Given the description of an element on the screen output the (x, y) to click on. 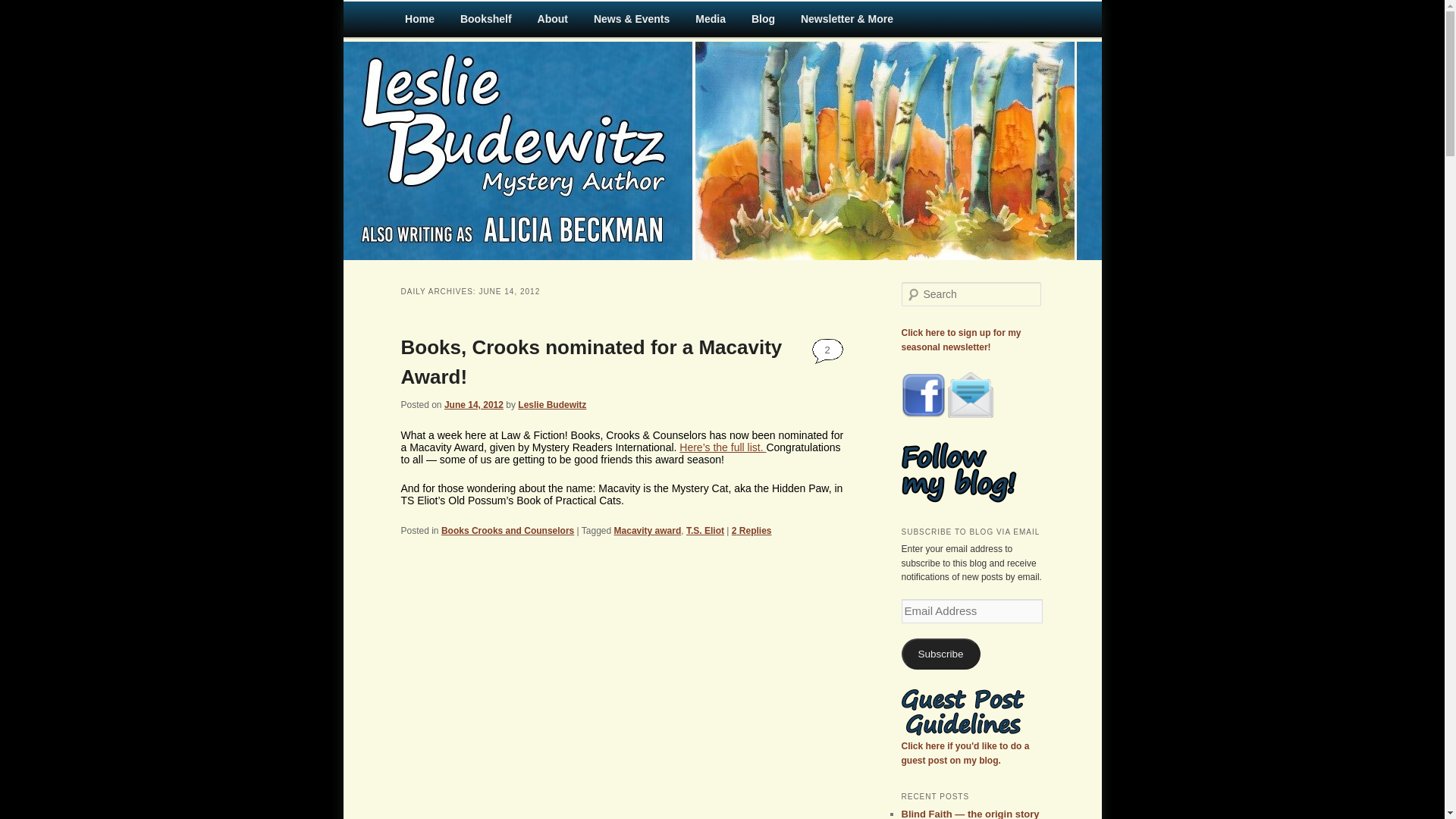
Click here to sign up for my seasonal newsletter! (960, 339)
Blog (762, 18)
Home (418, 18)
2 Replies (751, 530)
Leslie Budewitz (485, 56)
View all posts by Leslie Budewitz (552, 404)
June 14, 2012 (473, 404)
Macavity award (647, 530)
Search (21, 11)
Subscribe (940, 653)
Books, Crooks nominated for a Macavity Award! (590, 361)
Leslie Budewitz (552, 404)
2 (827, 349)
3:02 pm (473, 404)
